Given the description of an element on the screen output the (x, y) to click on. 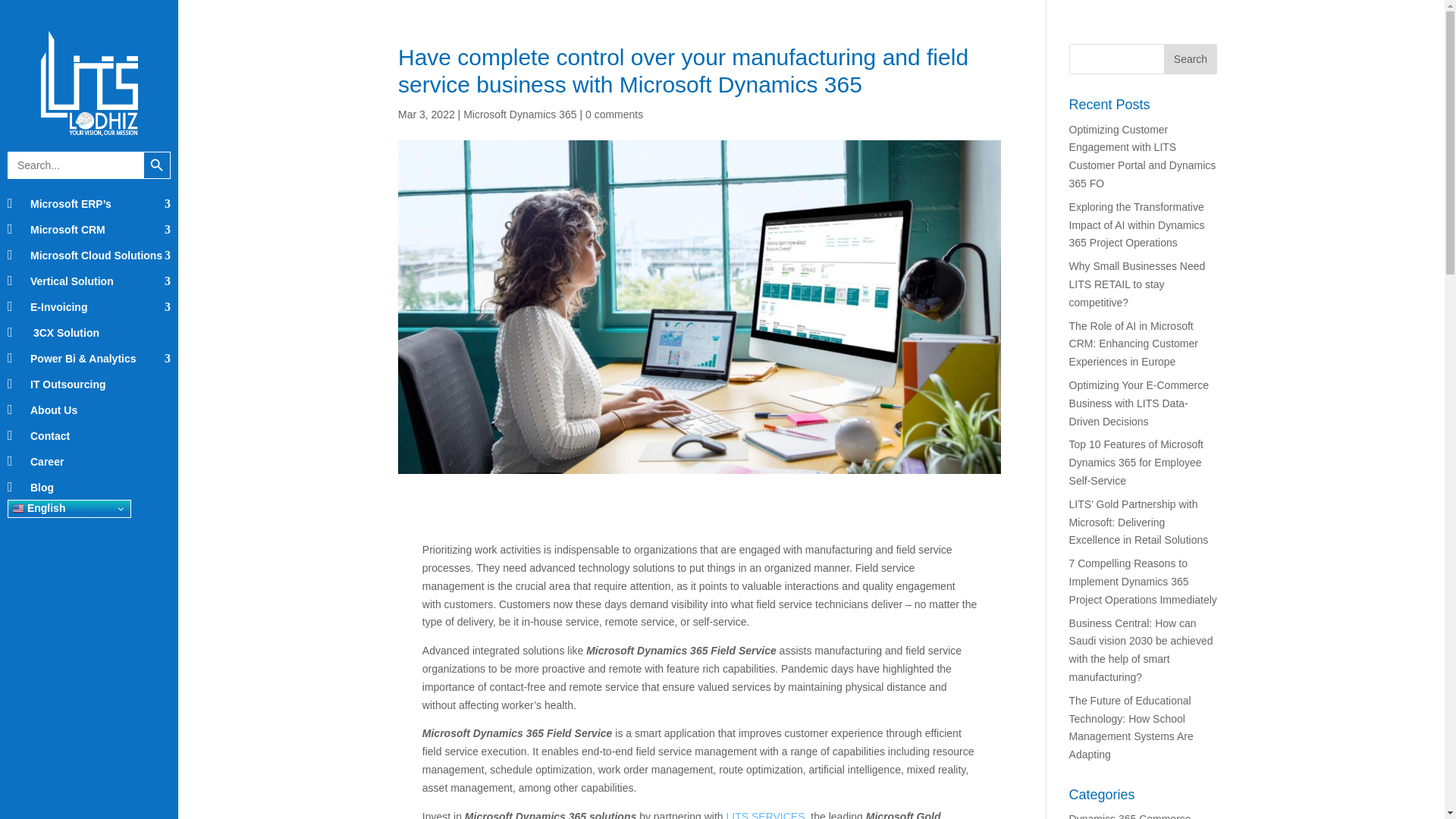
Microsoft CRM (88, 228)
Microsoft Cloud Solutions (88, 254)
Search Button (156, 165)
Search (1190, 59)
Vertical Solution (88, 280)
